Given the description of an element on the screen output the (x, y) to click on. 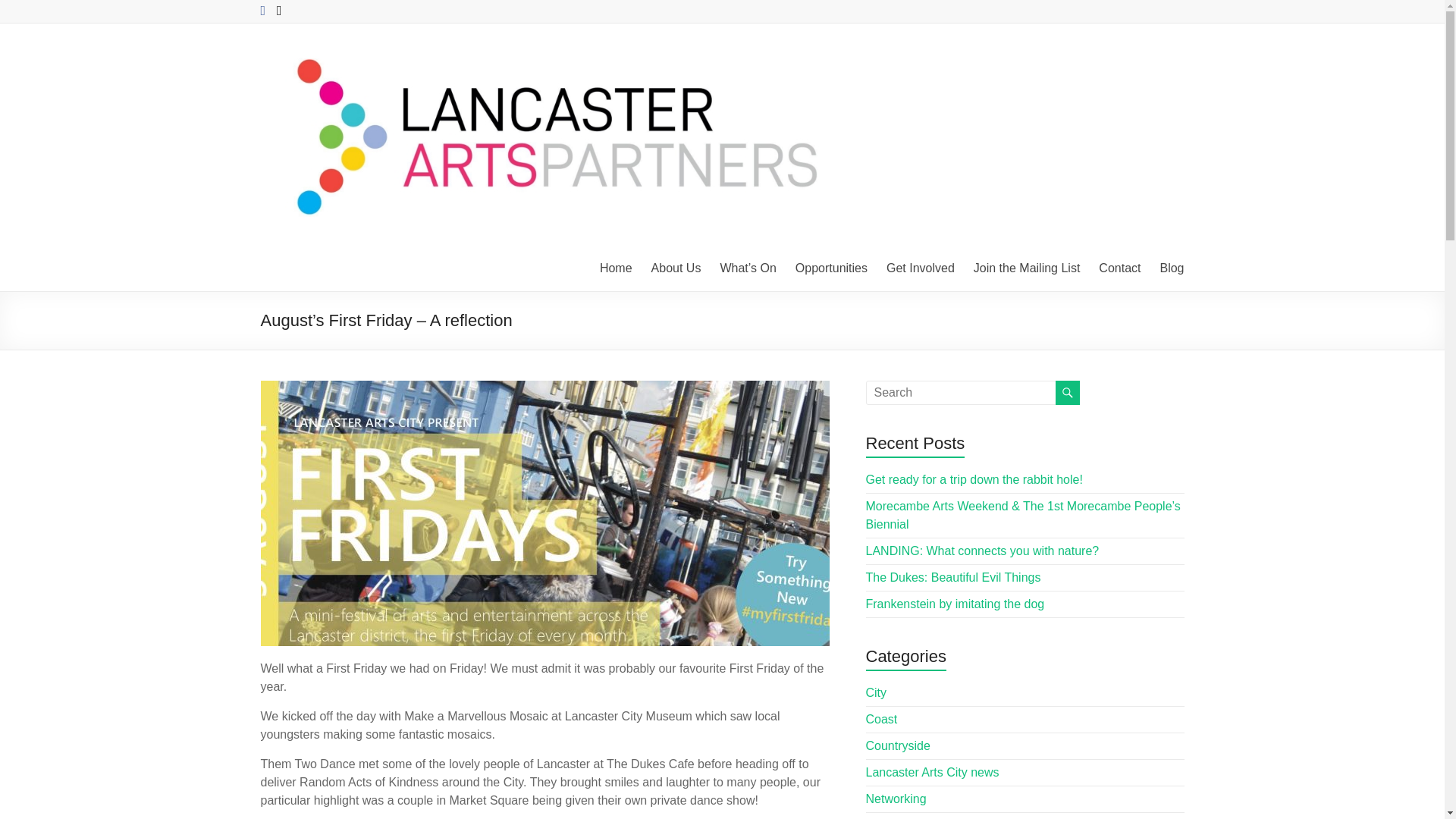
Lancaster Arts City (318, 83)
Get Involved (920, 268)
Contact (1119, 268)
Lancaster Arts City (318, 83)
Opportunities (830, 268)
Blog (1170, 268)
About Us (675, 268)
Home (615, 268)
Join the Mailing List (1027, 268)
